Given the description of an element on the screen output the (x, y) to click on. 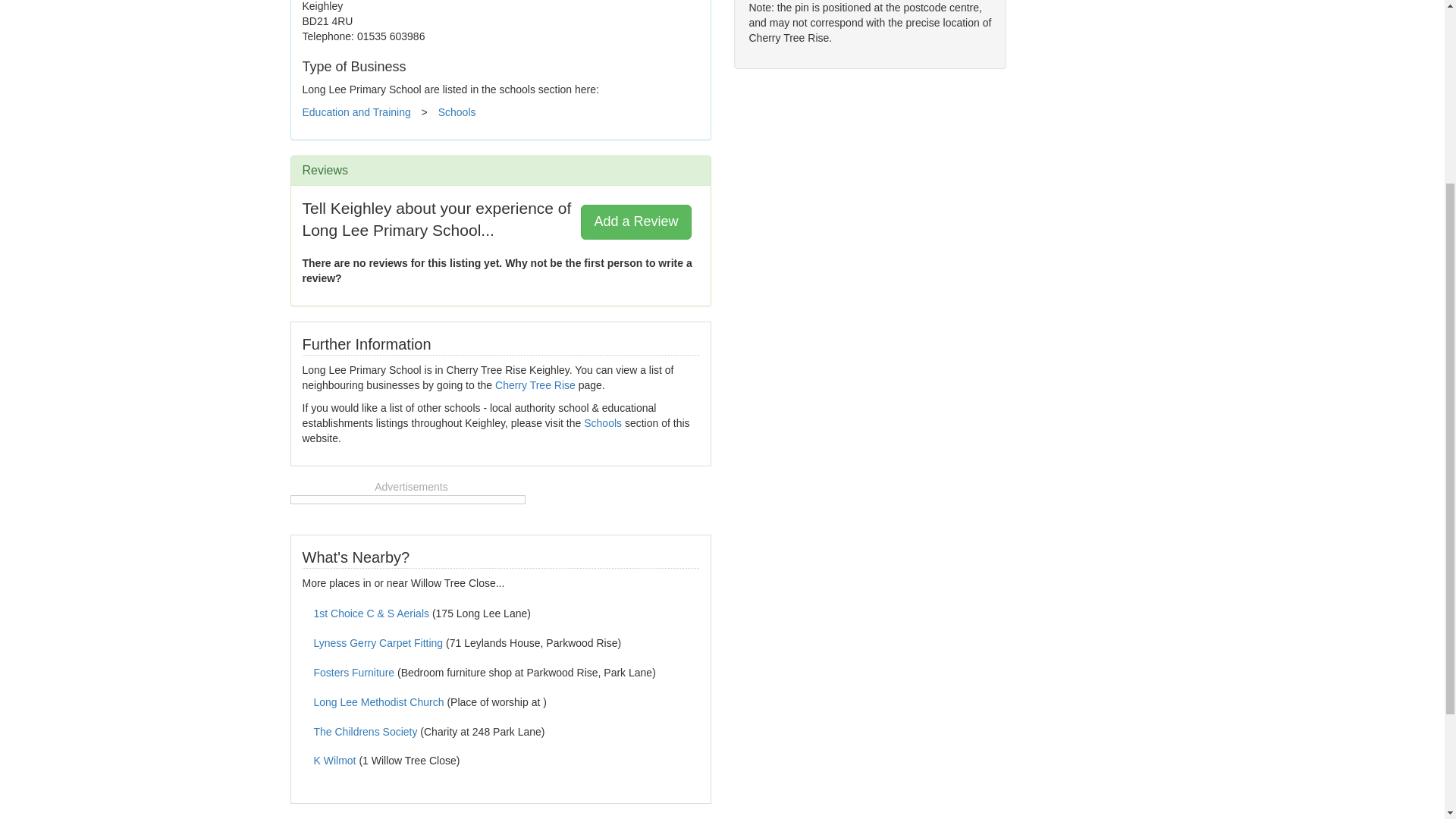
Schools (457, 111)
Schools (602, 422)
K Wilmot (335, 760)
Education and Training (355, 111)
Fosters Furniture (354, 672)
Lyness Gerry Carpet Fitting (379, 643)
Cherry Tree Rise (535, 385)
Add a Review (635, 221)
Long Lee Methodist Church (379, 702)
The Childrens Society (365, 731)
